Given the description of an element on the screen output the (x, y) to click on. 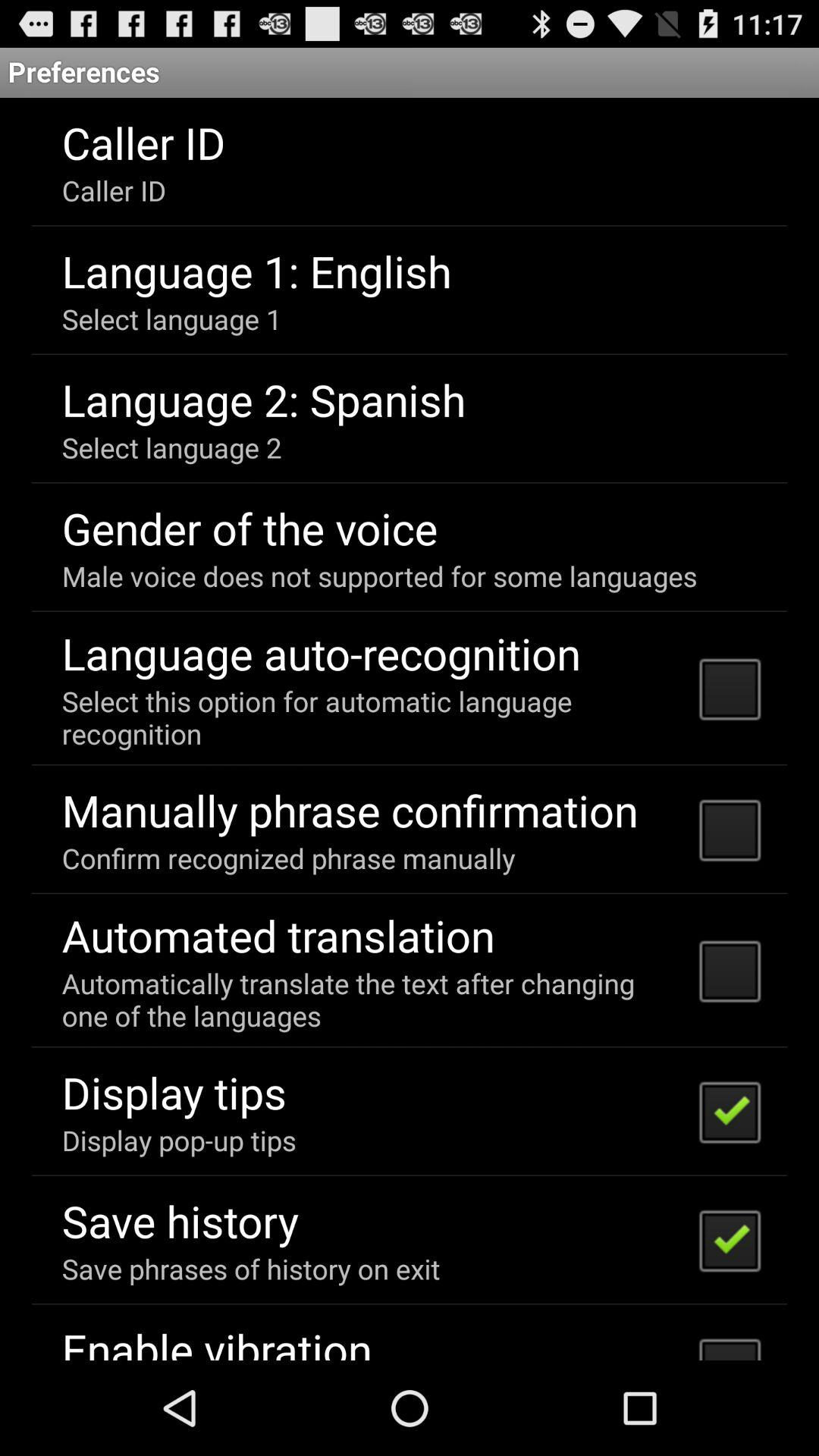
click the app below confirm recognized phrase (277, 935)
